Given the description of an element on the screen output the (x, y) to click on. 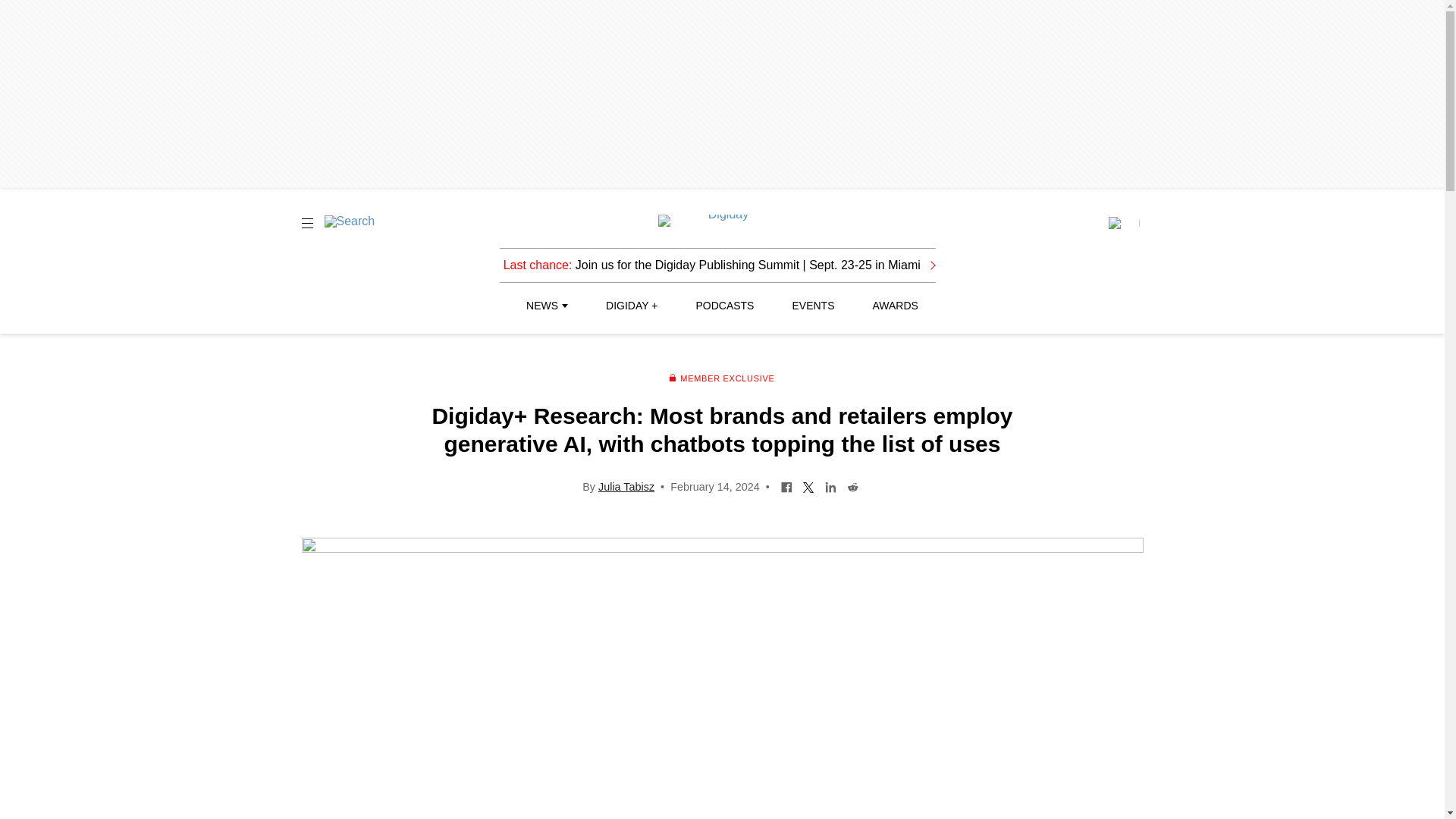
Subscribe (1123, 223)
Share on Twitter (808, 485)
Share on Facebook (786, 485)
EVENTS (813, 305)
NEWS (546, 305)
Share on LinkedIn (830, 485)
Share on Reddit (852, 485)
PODCASTS (725, 305)
AWARDS (894, 305)
